Given the description of an element on the screen output the (x, y) to click on. 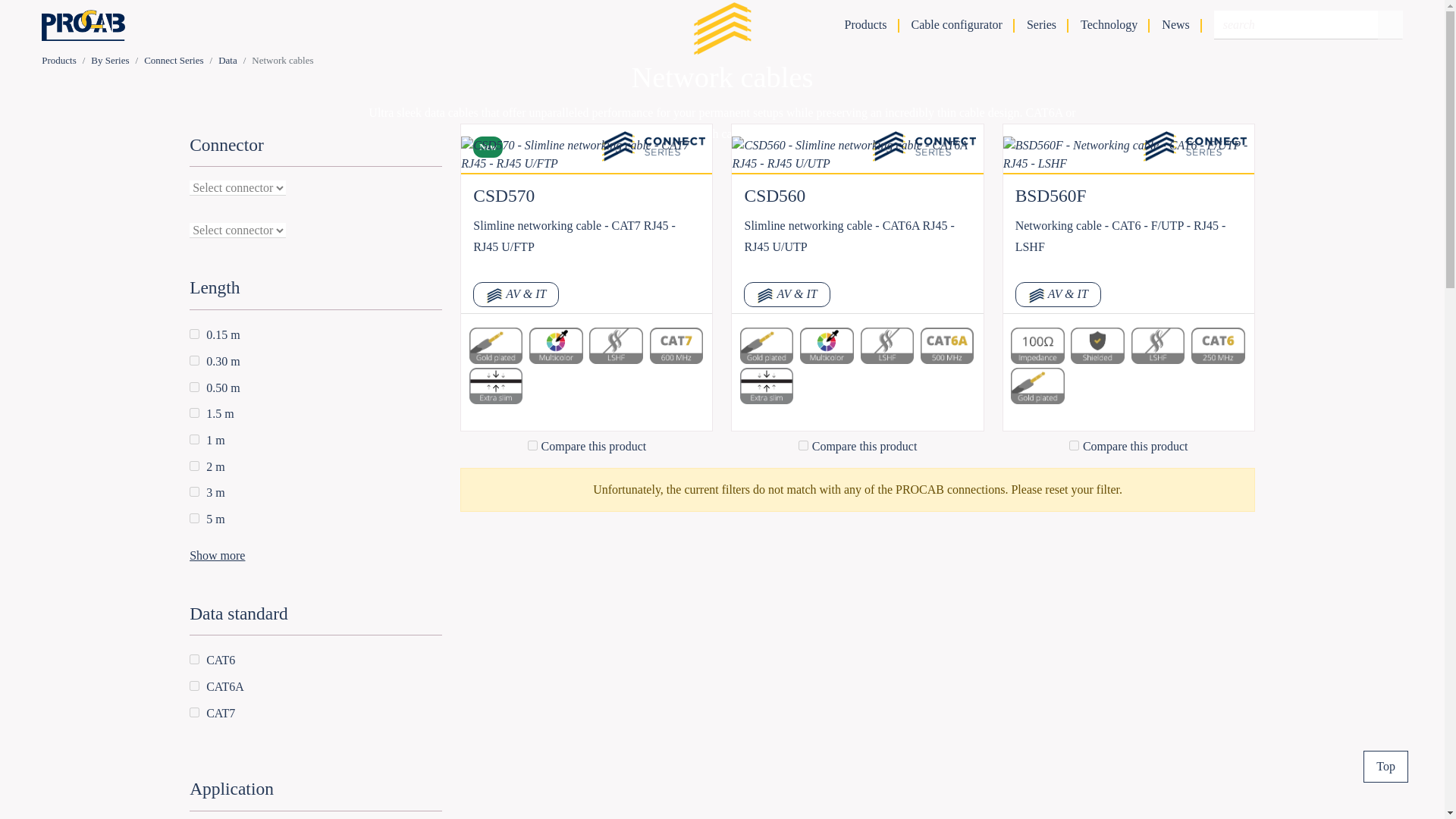
Series (1041, 24)
on (194, 412)
on (194, 491)
Products (59, 60)
LSHF (887, 345)
PROCAB - Cables you can rely on (83, 25)
By Series (109, 60)
PROCAB - Cables you can rely on (83, 24)
on (532, 445)
on (194, 360)
